Given the description of an element on the screen output the (x, y) to click on. 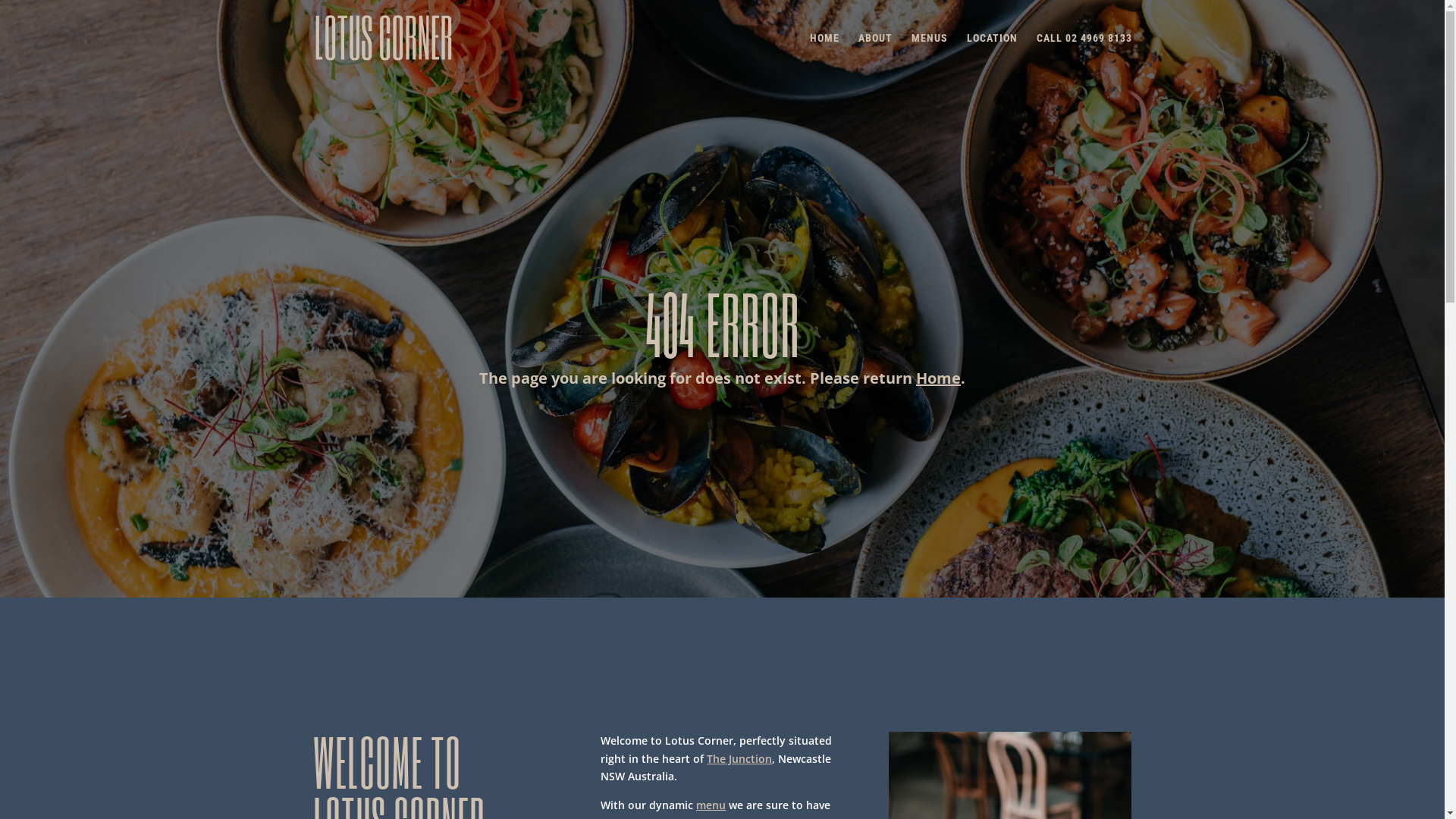
CALL 02 4969 8133 Element type: text (1083, 53)
menu Element type: text (710, 804)
ABOUT Element type: text (875, 53)
Home Element type: text (938, 377)
The Junction Element type: text (738, 758)
HOME Element type: text (824, 53)
LOCATION Element type: text (991, 53)
MENUS Element type: text (929, 53)
